Given the description of an element on the screen output the (x, y) to click on. 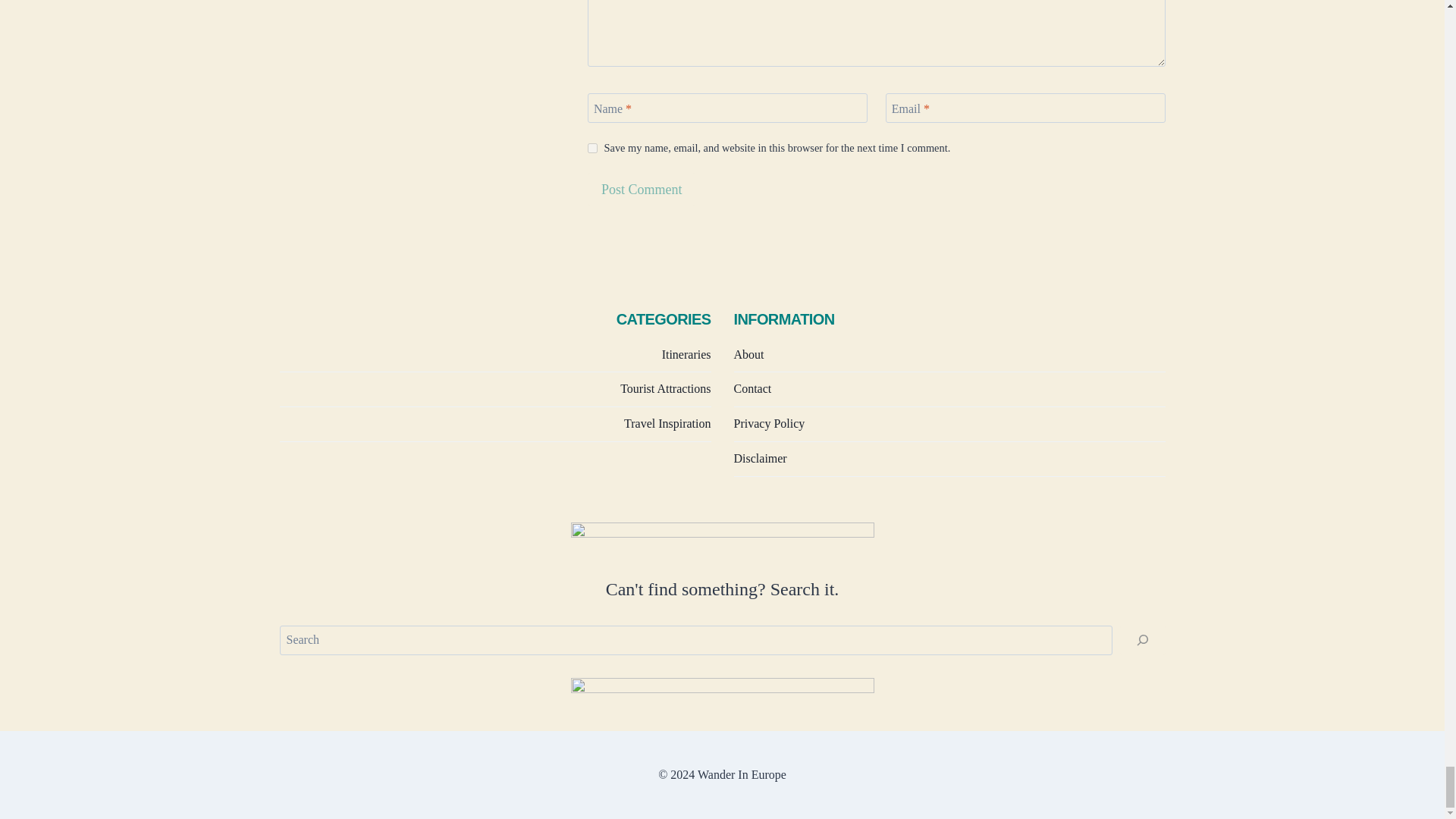
Post Comment (641, 188)
yes (592, 148)
